Given the description of an element on the screen output the (x, y) to click on. 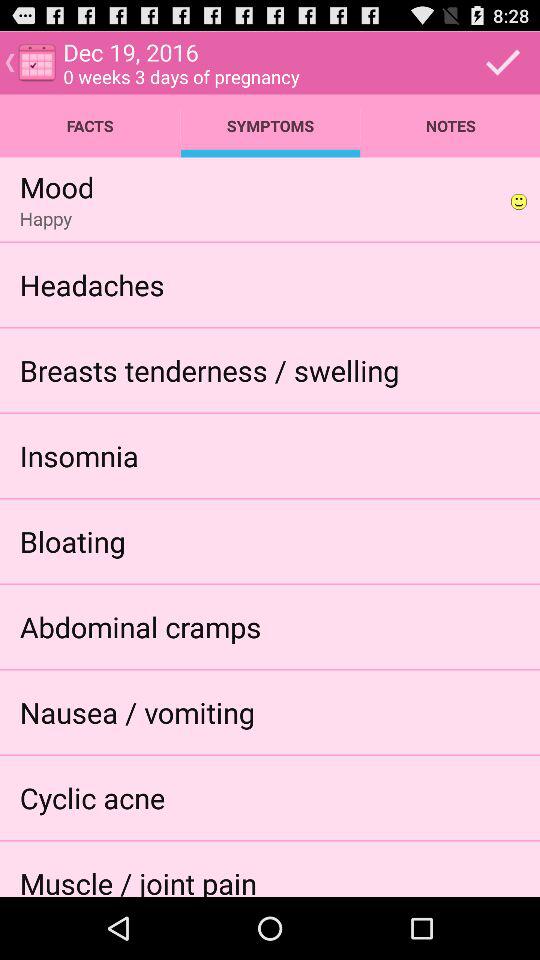
open the mood item (56, 186)
